Given the description of an element on the screen output the (x, y) to click on. 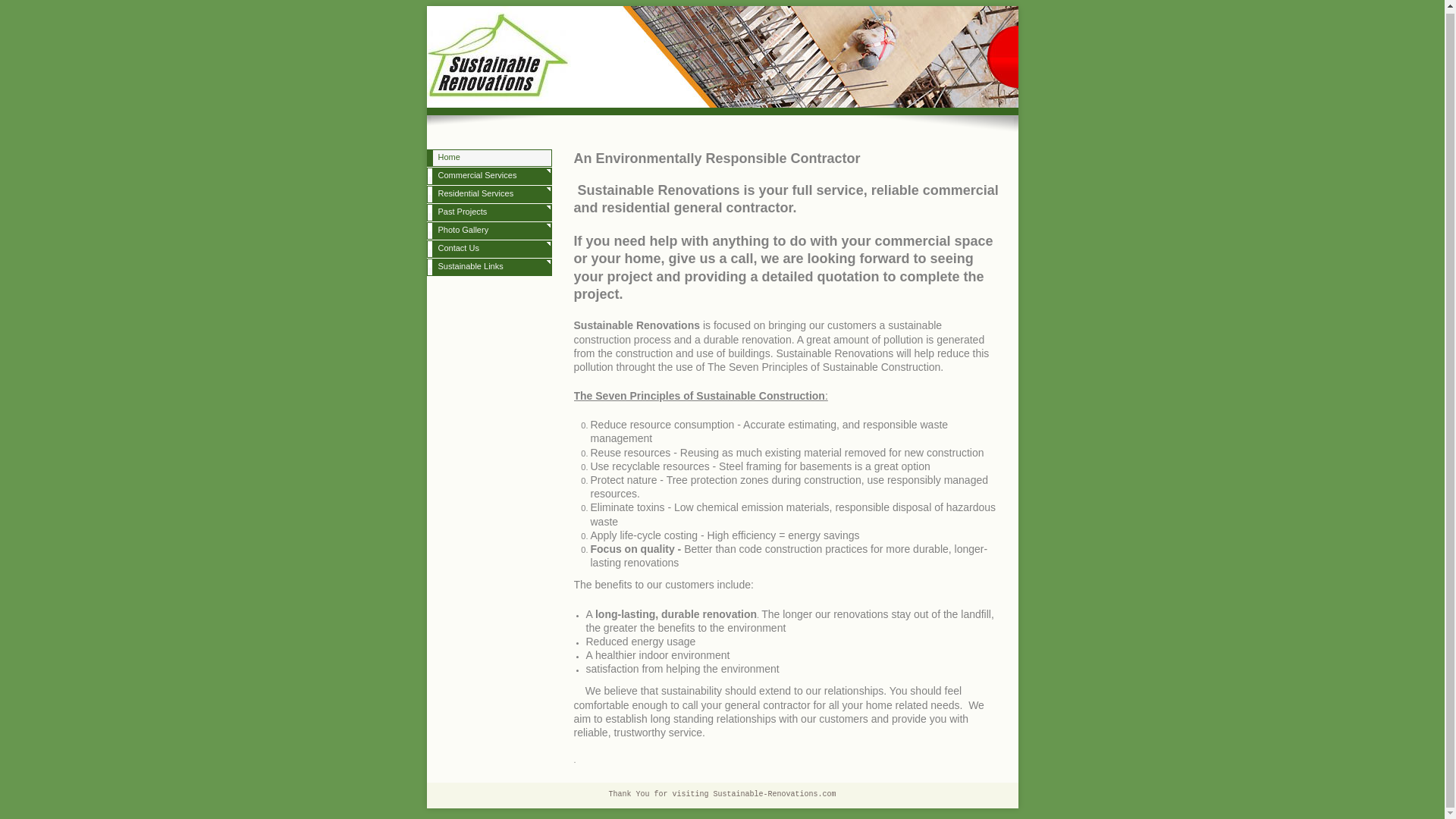
Residential Services (488, 194)
Contact Us (488, 249)
Commercial Services (488, 176)
Sustainable Links (488, 267)
Photo Gallery (488, 230)
Past Projects (488, 212)
Home (488, 158)
